Given the description of an element on the screen output the (x, y) to click on. 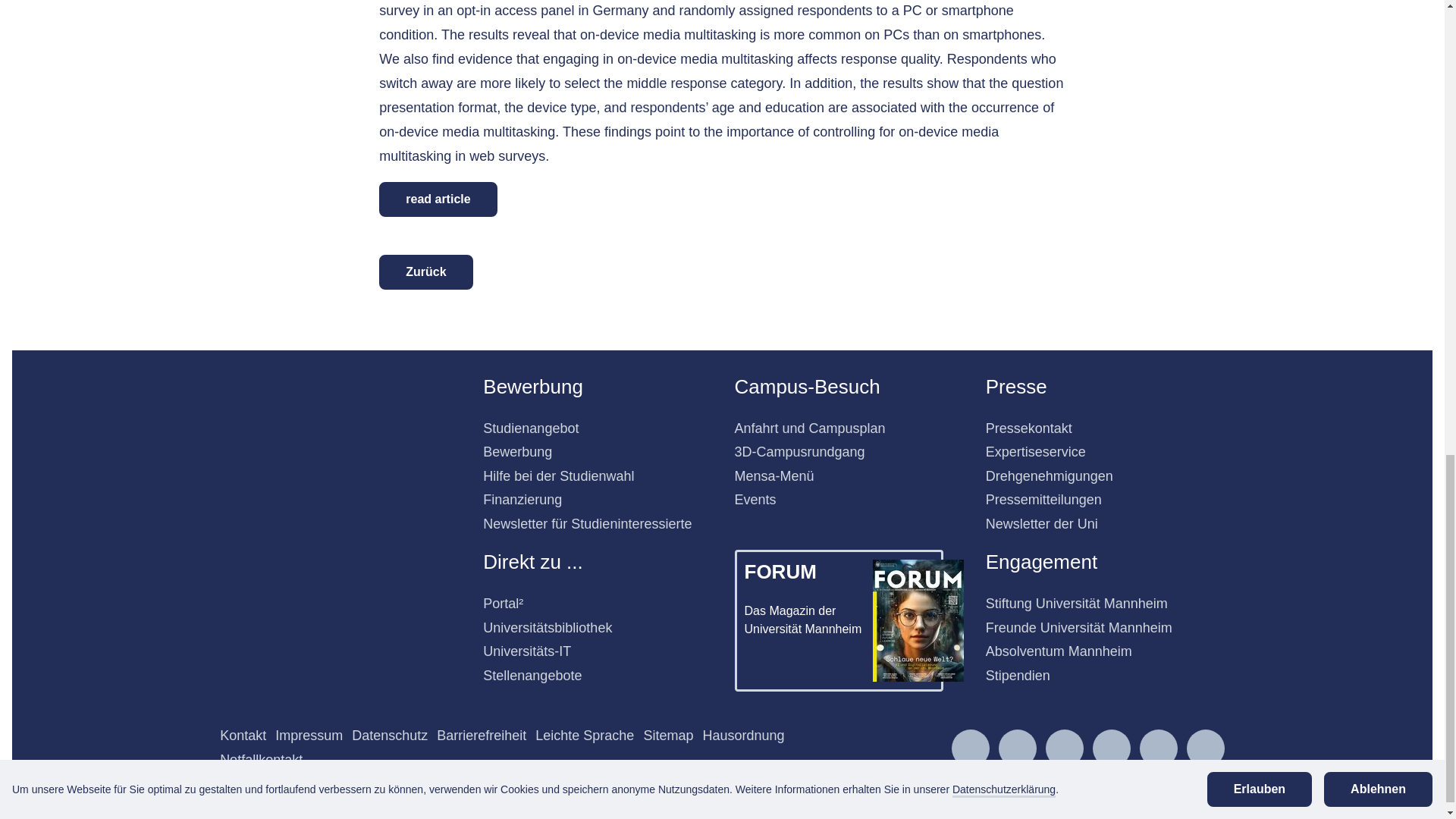
Mastodon-Seite der Uni Mannheim (1205, 748)
Instagram-Seite der Uni Mannheim (969, 748)
YouTube-Seite der Uni Mannheim (1158, 748)
LinkedIn-Seite der Uni Mannheim (1064, 748)
